Given the description of an element on the screen output the (x, y) to click on. 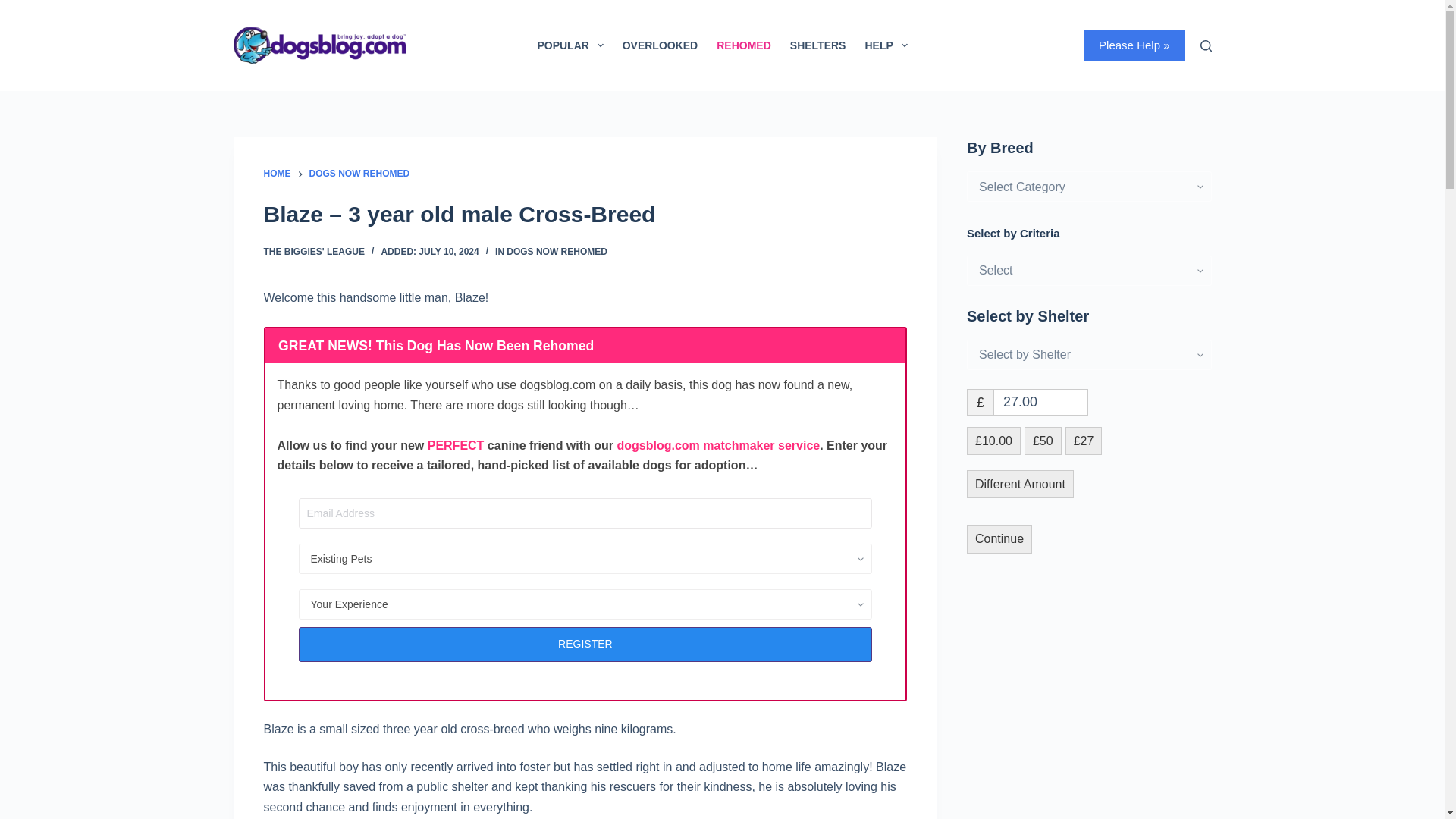
POPULAR (569, 45)
Popular Dogs for Adoption (569, 45)
Posts by The Biggies' League (314, 251)
Skip to content (15, 7)
Advertisement (1079, 701)
27.00 (1039, 402)
Overlooked Dogs for Adoption (659, 45)
